Given the description of an element on the screen output the (x, y) to click on. 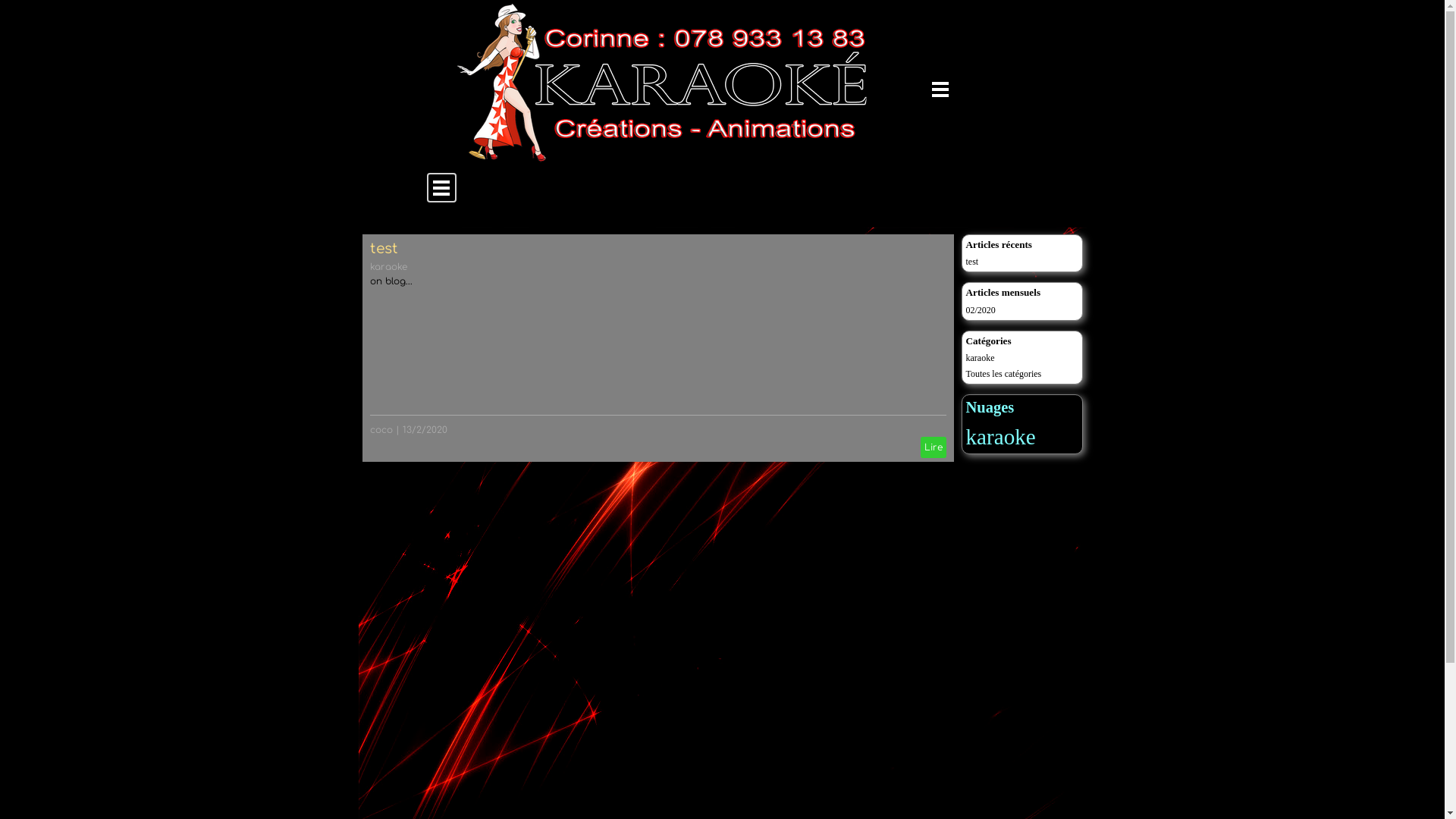
test Element type: text (384, 248)
karaoke Element type: text (980, 357)
karaoke Element type: text (1000, 436)
test Element type: text (972, 261)
coco Element type: text (381, 429)
02/2020 Element type: text (980, 309)
Lire Element type: text (933, 447)
karaoke Element type: text (388, 266)
